Given the description of an element on the screen output the (x, y) to click on. 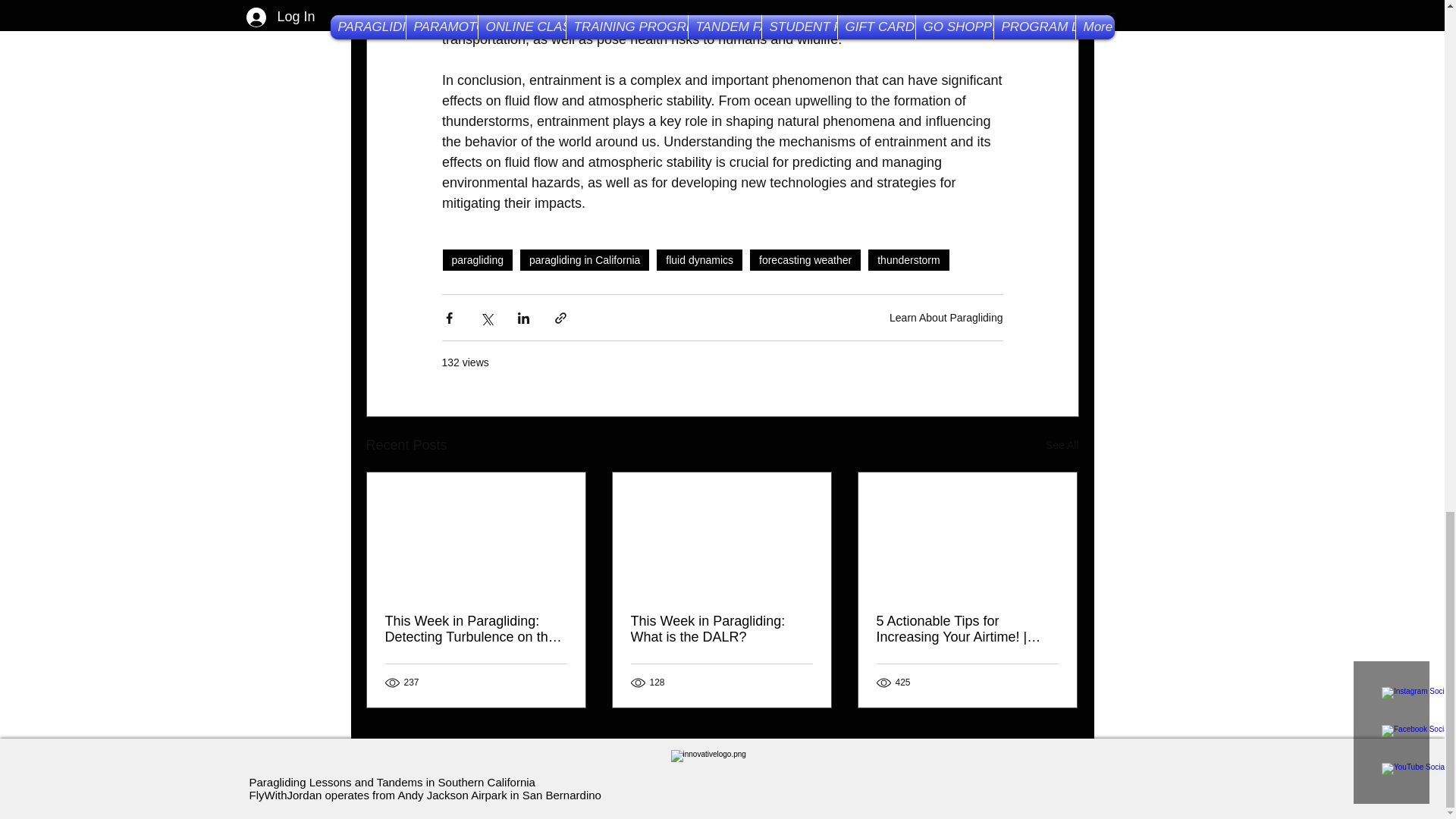
See All (1061, 445)
Learn About Paragliding (946, 317)
fluid dynamics (699, 259)
paragliding (477, 259)
forecasting weather (805, 259)
paragliding in California (584, 259)
thunderstorm (908, 259)
This Week in Paragliding: What is the DALR? (721, 629)
